Given the description of an element on the screen output the (x, y) to click on. 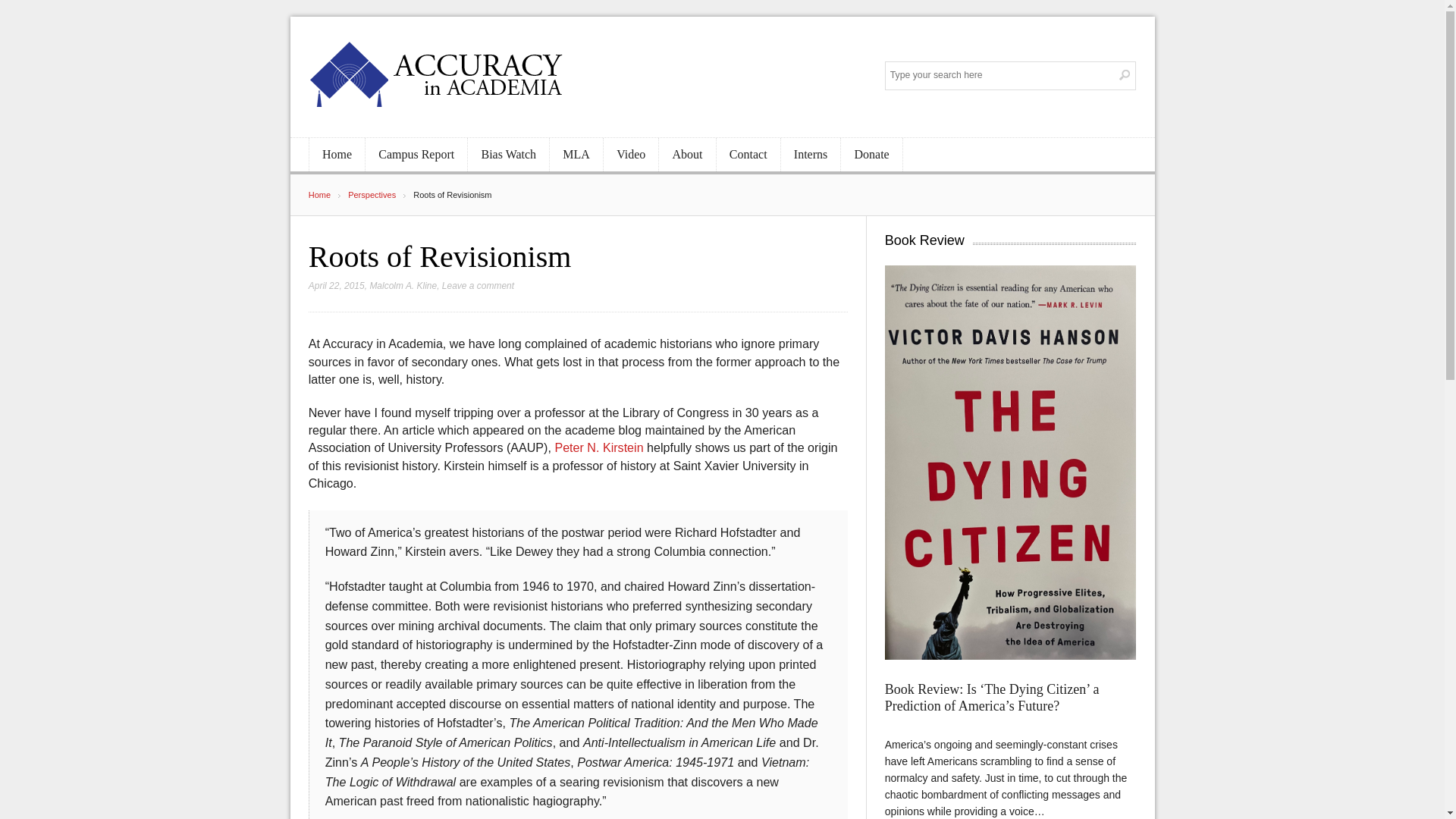
Home (336, 154)
Contact (748, 154)
Peter N. Kirstein (598, 447)
Leave a comment (477, 285)
Interns (810, 154)
Video (631, 154)
Home (327, 194)
Campus Report (416, 154)
MLA (576, 154)
Bias Watch (507, 154)
Perspectives (380, 194)
Donate (871, 154)
About (686, 154)
